Given the description of an element on the screen output the (x, y) to click on. 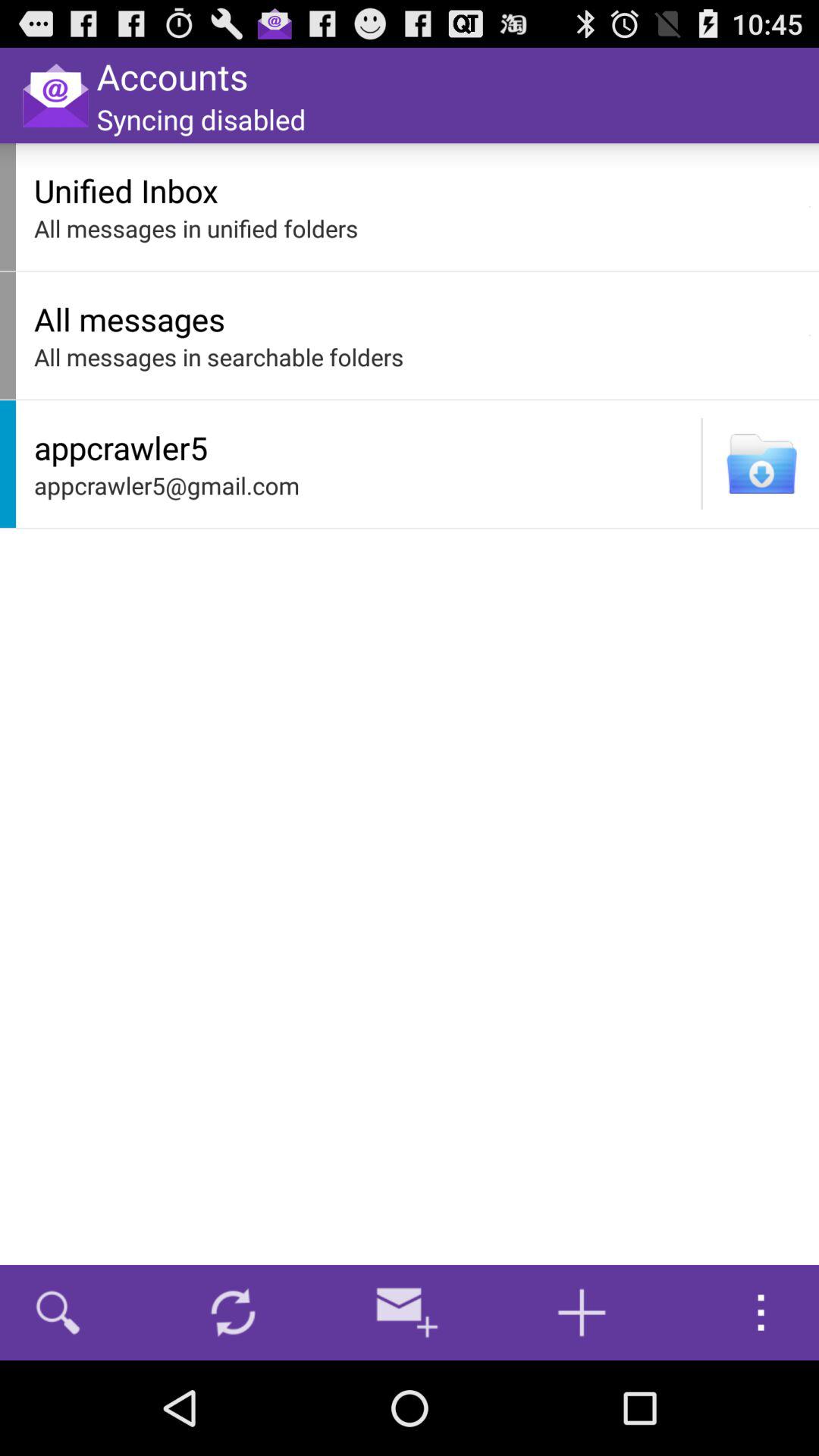
download and save (761, 463)
